Given the description of an element on the screen output the (x, y) to click on. 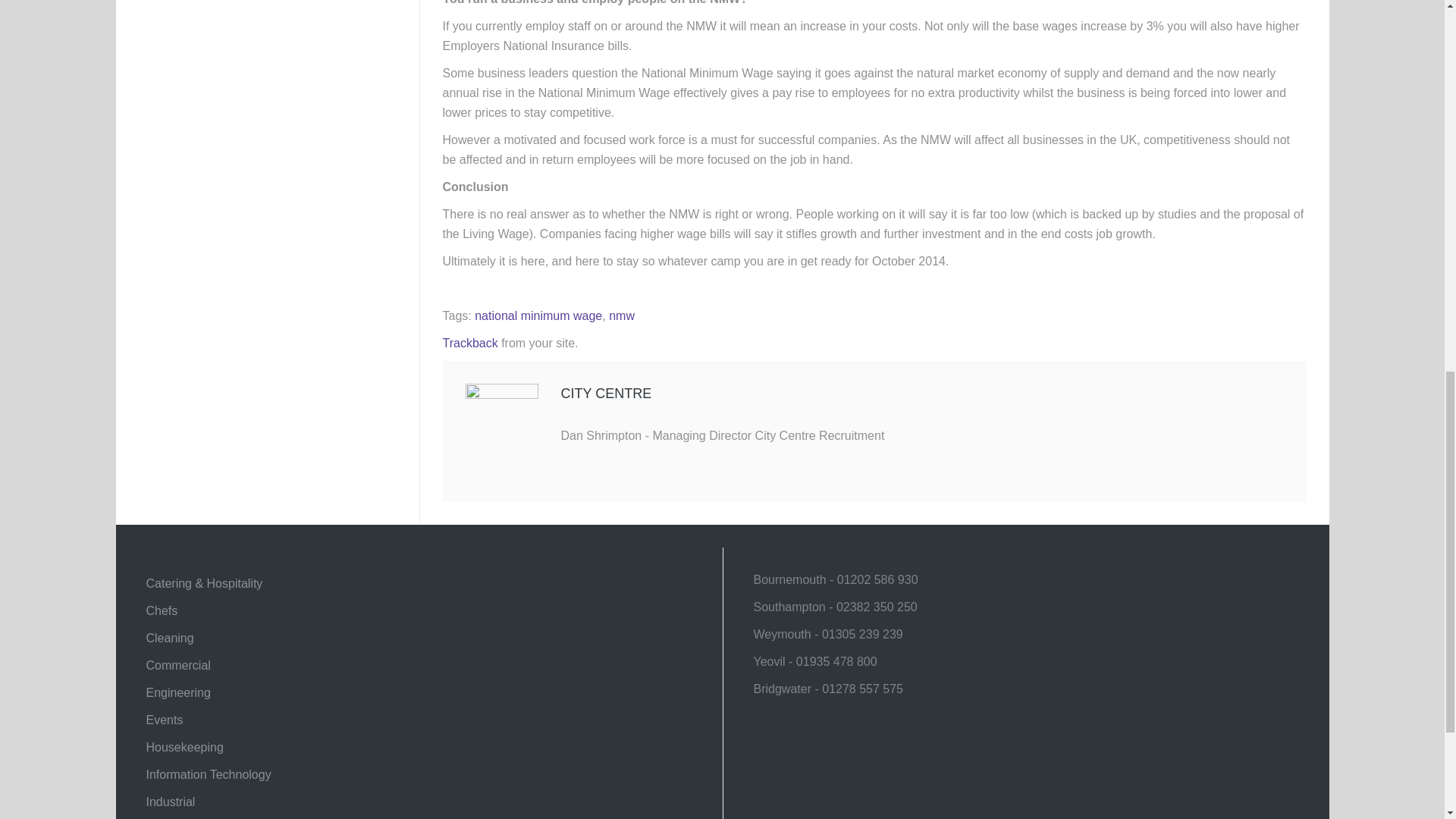
national minimum wage (538, 315)
nmw (621, 315)
